Given the description of an element on the screen output the (x, y) to click on. 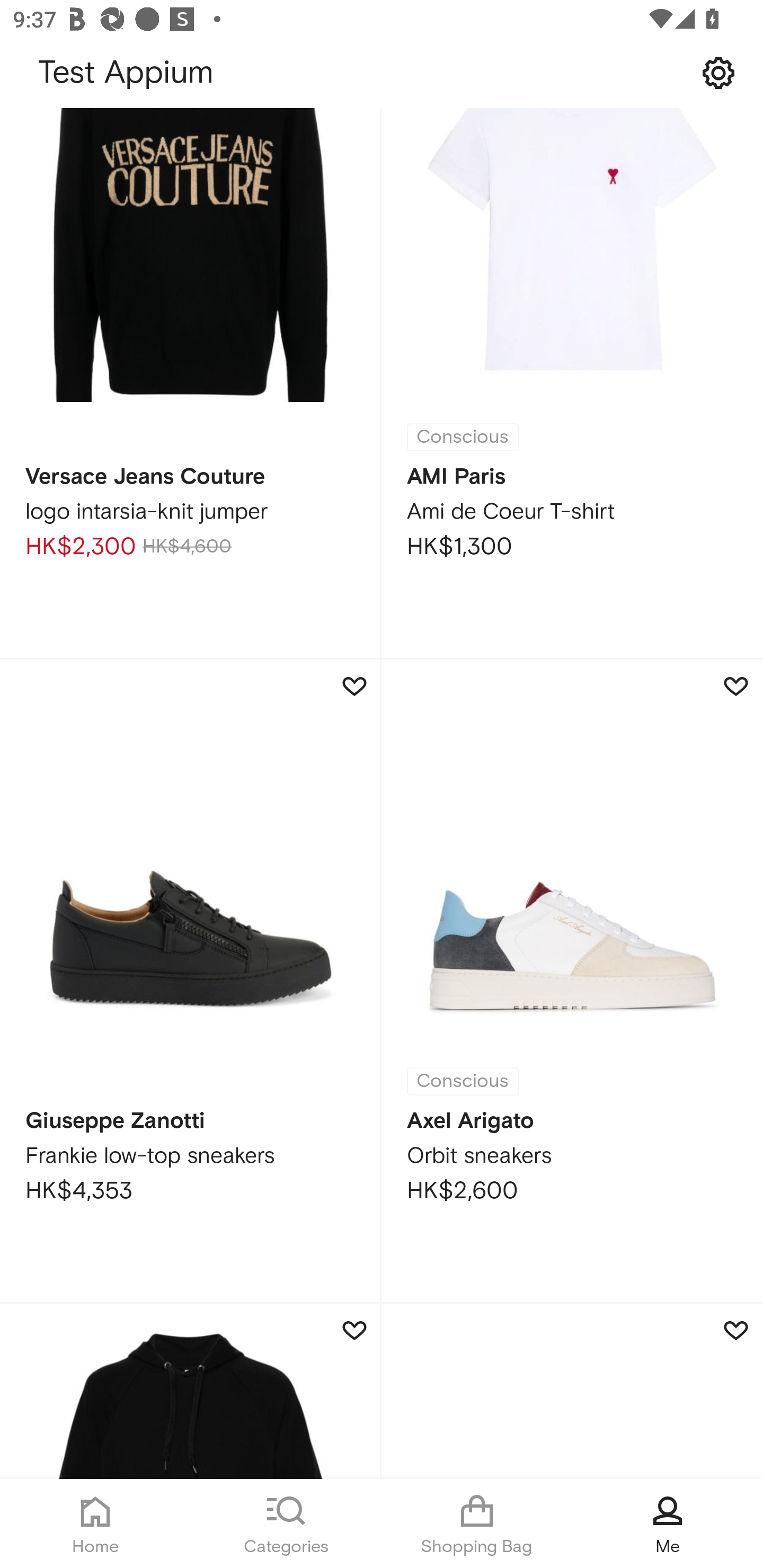
Test Appium (381, 72)
Conscious AMI Paris Ami de Coeur T-shirt HK$1,300 (572, 385)
Giuseppe Zanotti Frankie low-top sneakers HK$4,353 (190, 981)
Conscious Axel Arigato Orbit sneakers HK$2,600 (572, 981)
Home (95, 1523)
Categories (285, 1523)
Shopping Bag (476, 1523)
